Given the description of an element on the screen output the (x, y) to click on. 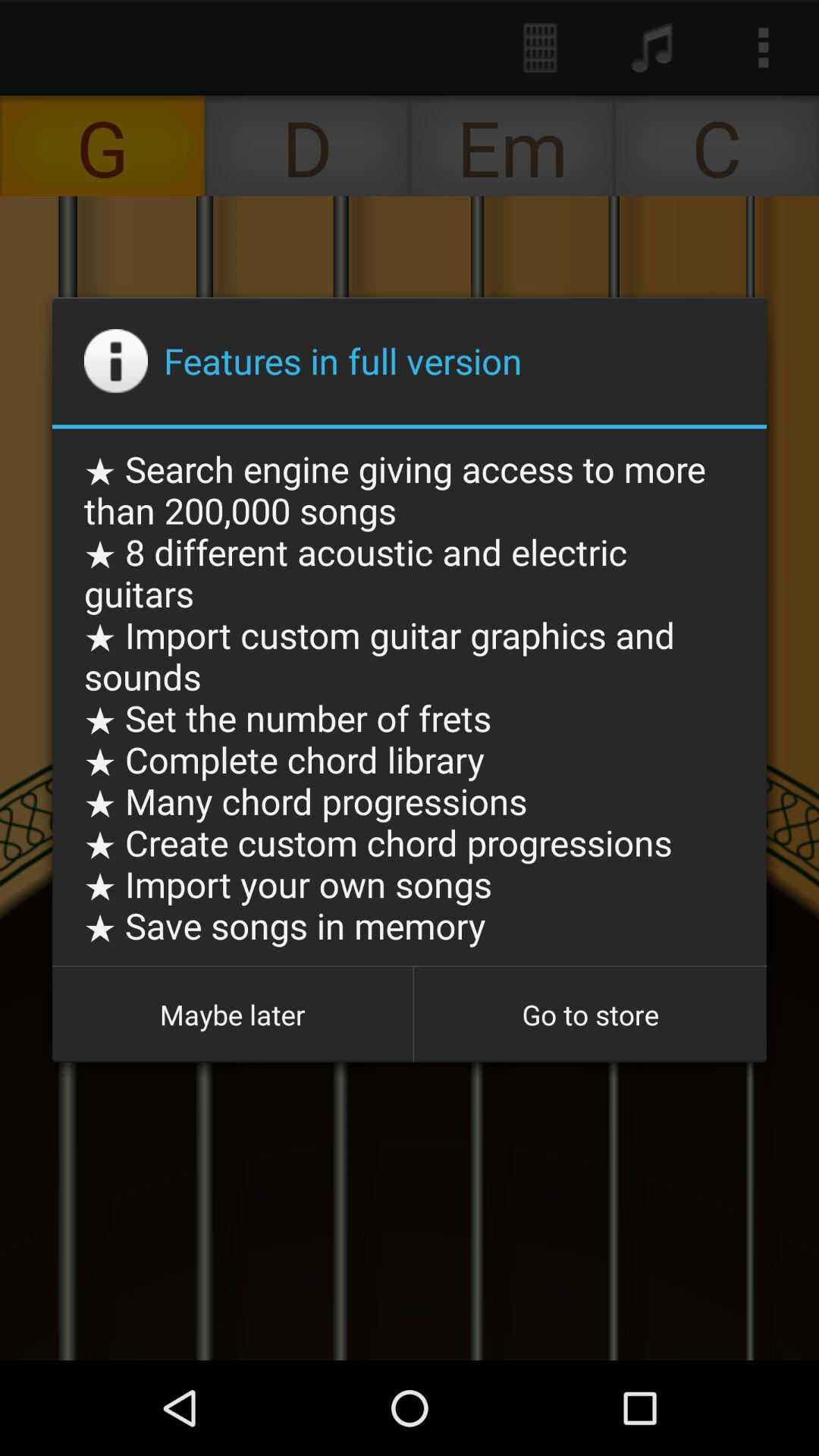
tap go to store button (590, 1014)
